Given the description of an element on the screen output the (x, y) to click on. 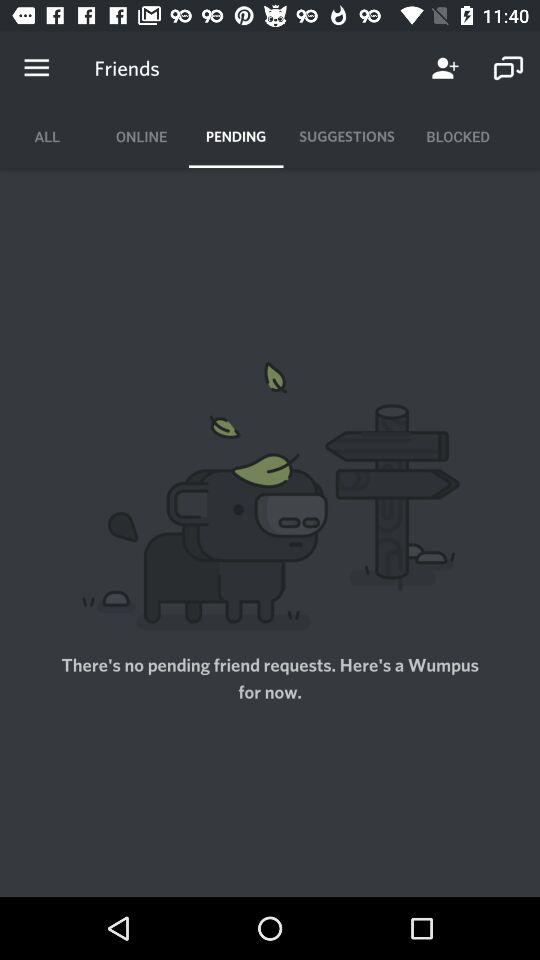
select item above the blocked icon (508, 67)
